Given the description of an element on the screen output the (x, y) to click on. 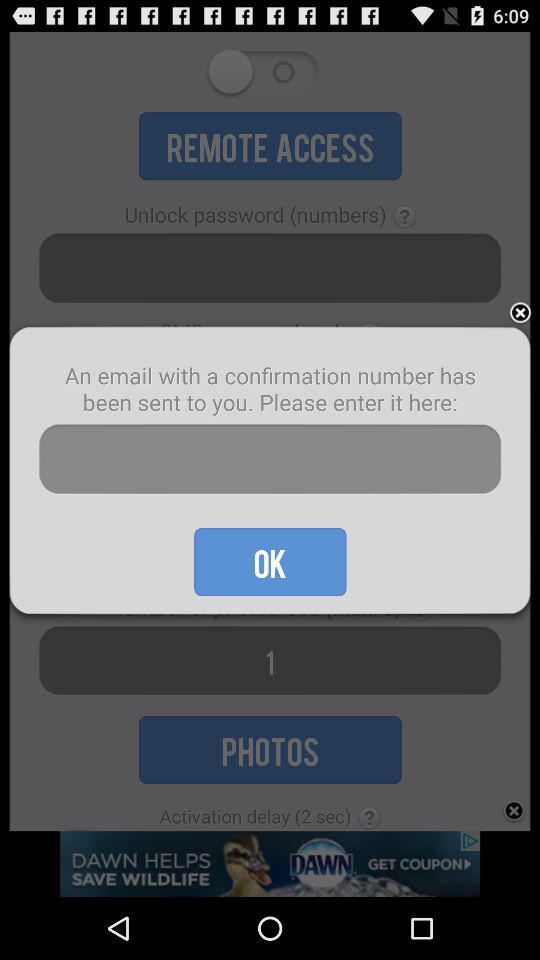
press the icon at the top right corner (520, 313)
